Given the description of an element on the screen output the (x, y) to click on. 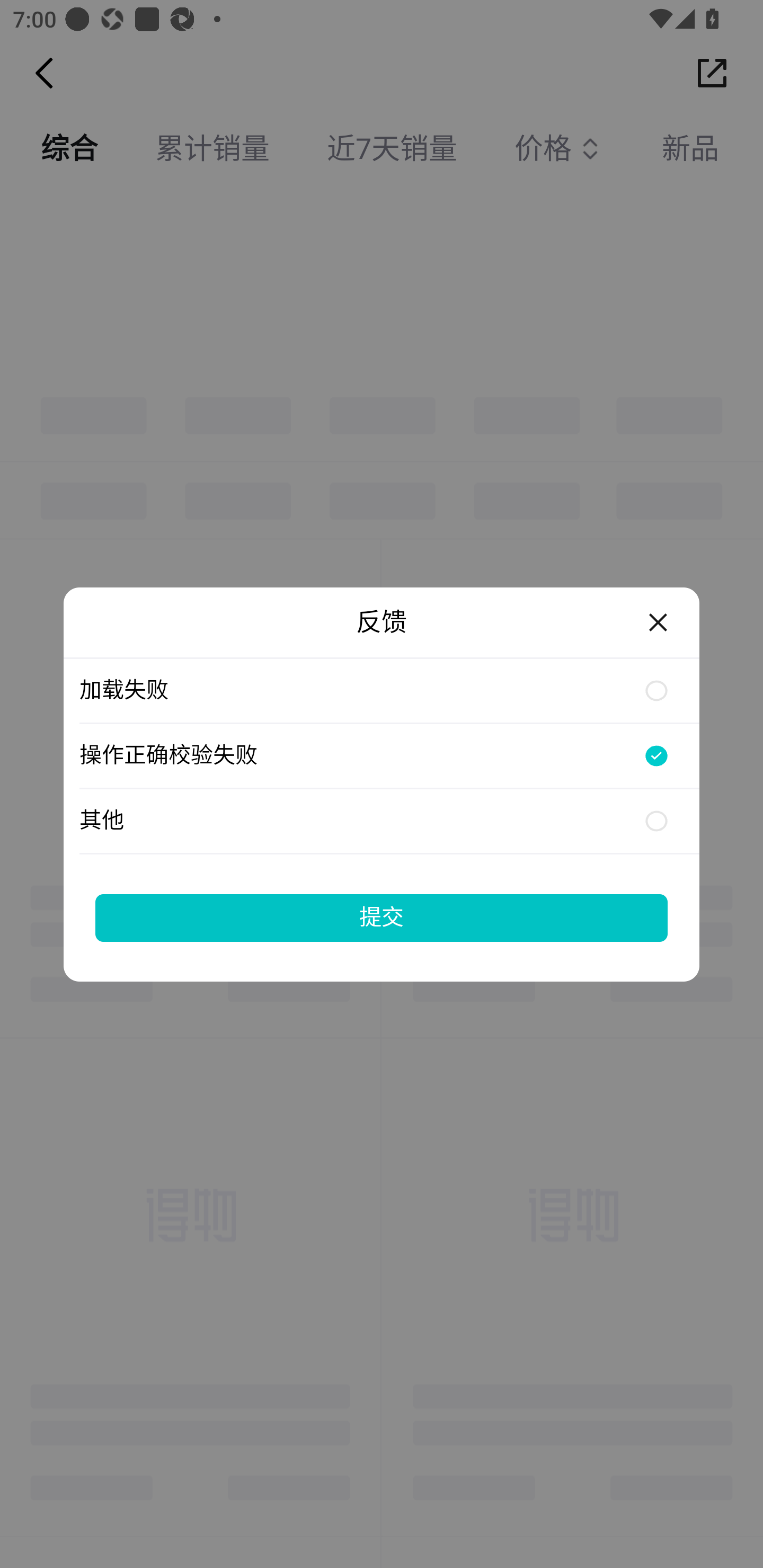
提交 (381, 917)
